Given the description of an element on the screen output the (x, y) to click on. 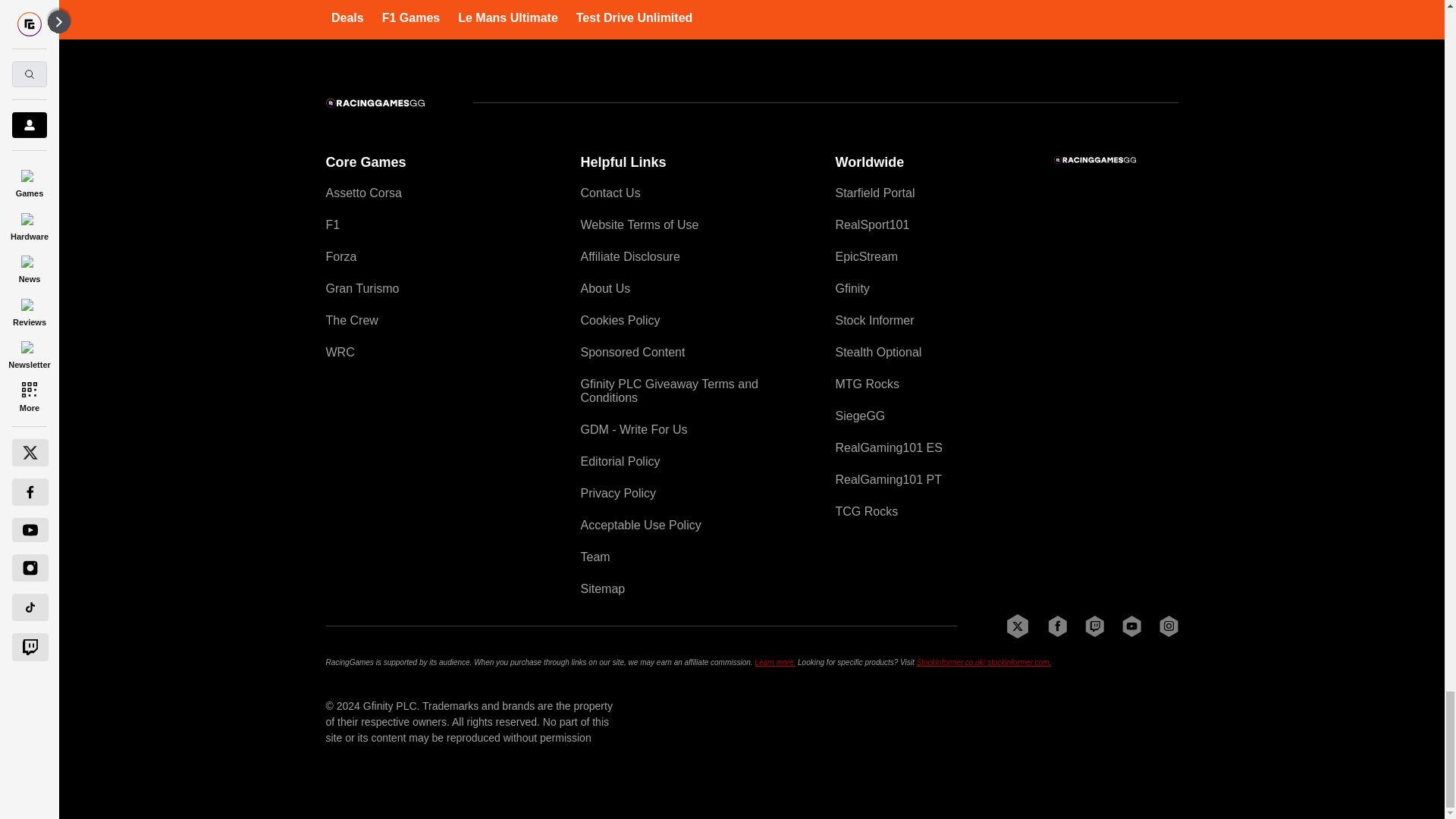
Latest News (1063, 6)
